Given the description of an element on the screen output the (x, y) to click on. 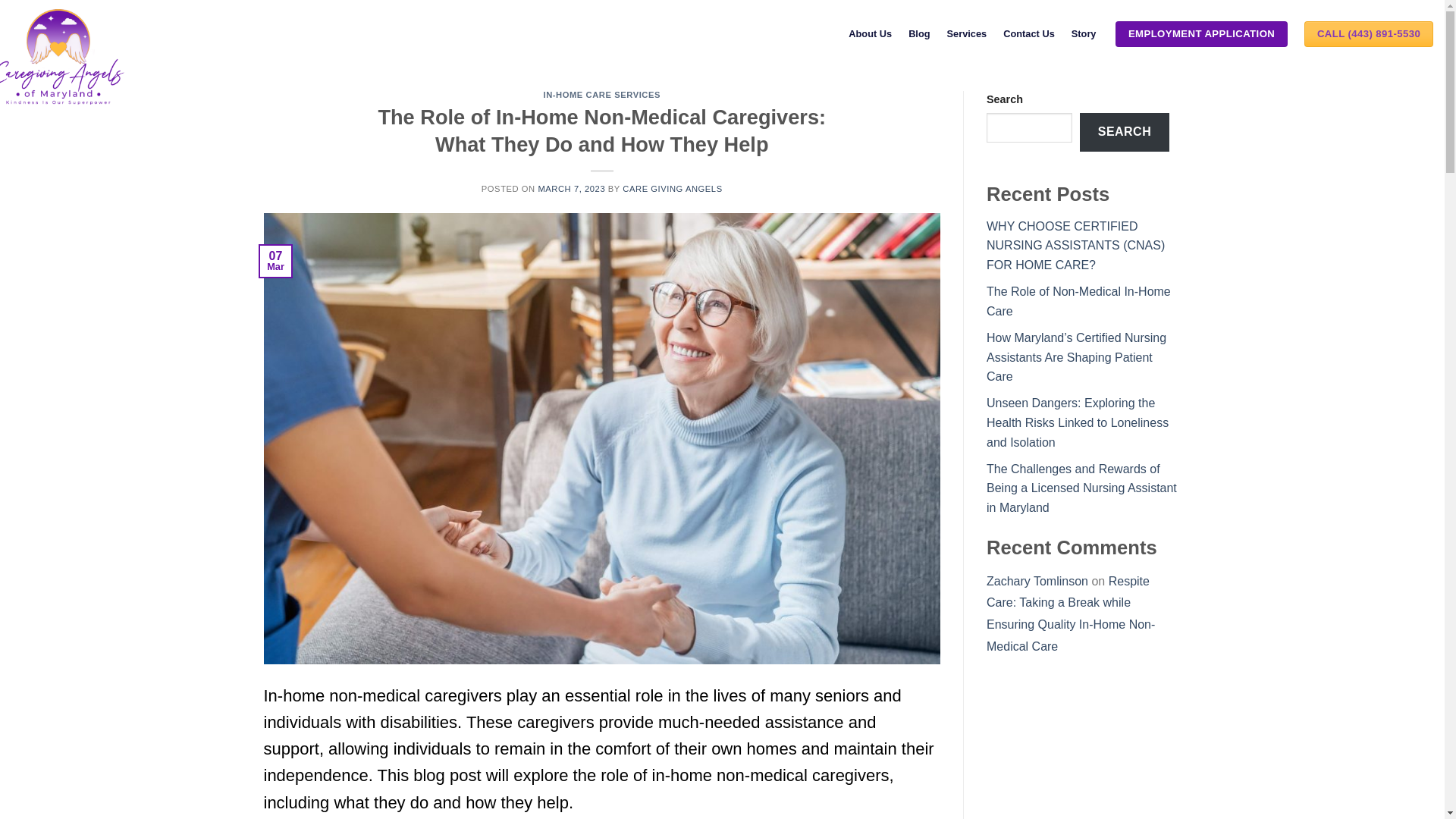
Services (967, 33)
EMPLOYMENT APPLICATION (1201, 33)
Contact Us (1028, 33)
Zachary Tomlinson (1037, 581)
About Us (869, 33)
Story  (1085, 33)
IN-HOME CARE SERVICES (602, 94)
The Role of Non-Medical In-Home Care (1078, 301)
SEARCH (1124, 132)
CARE GIVING ANGELS (672, 188)
MARCH 7, 2023 (571, 188)
